Given the description of an element on the screen output the (x, y) to click on. 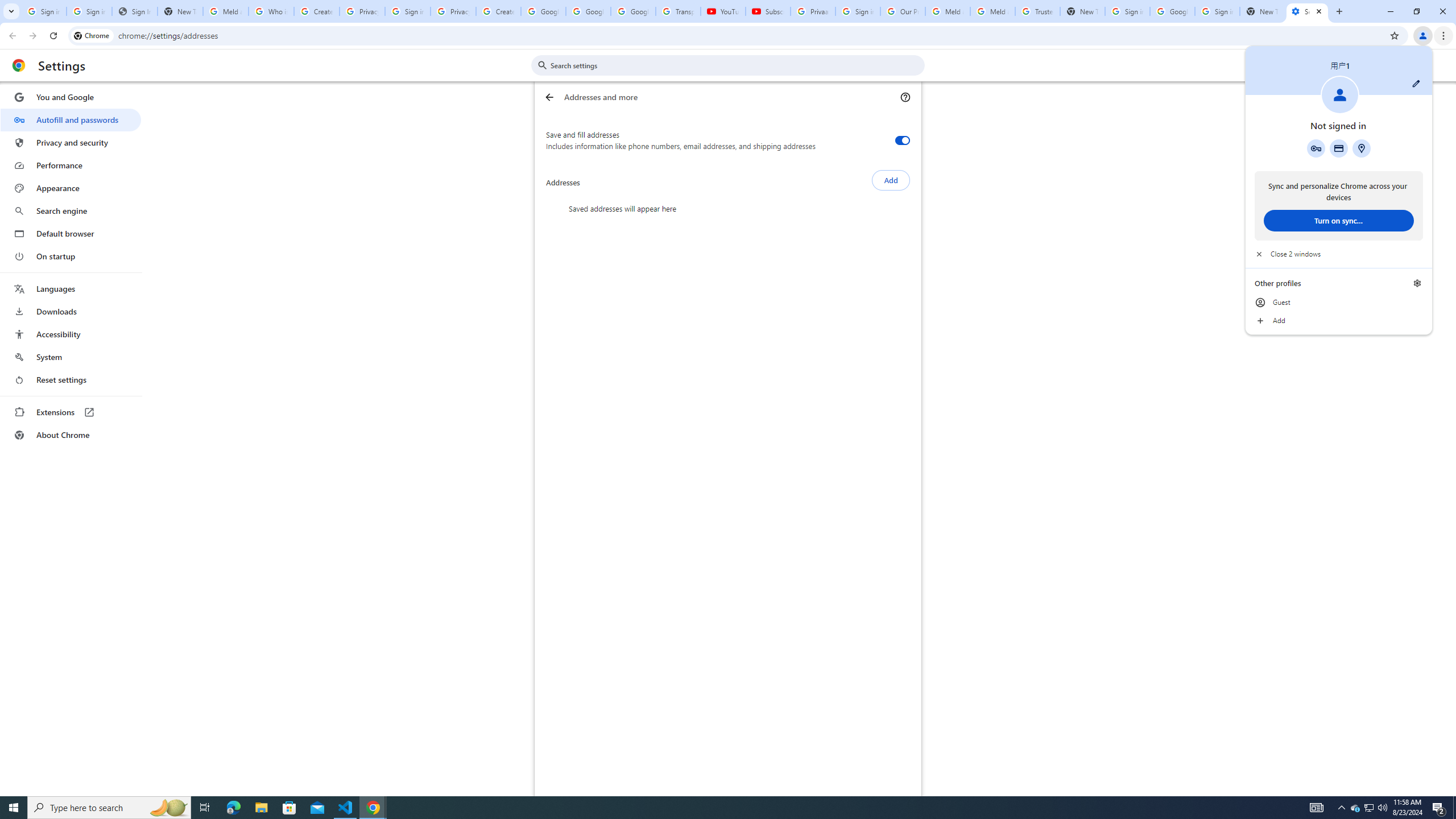
Search highlights icon opens search home window (167, 807)
Sign in - Google Accounts (1216, 11)
Google Password Manager (1315, 148)
Search settings (735, 65)
Add (1338, 321)
Addresses and more (1361, 148)
Sign in - Google Accounts (857, 11)
Start (13, 807)
YouTube (723, 11)
Sign In - USA TODAY (134, 11)
